Given the description of an element on the screen output the (x, y) to click on. 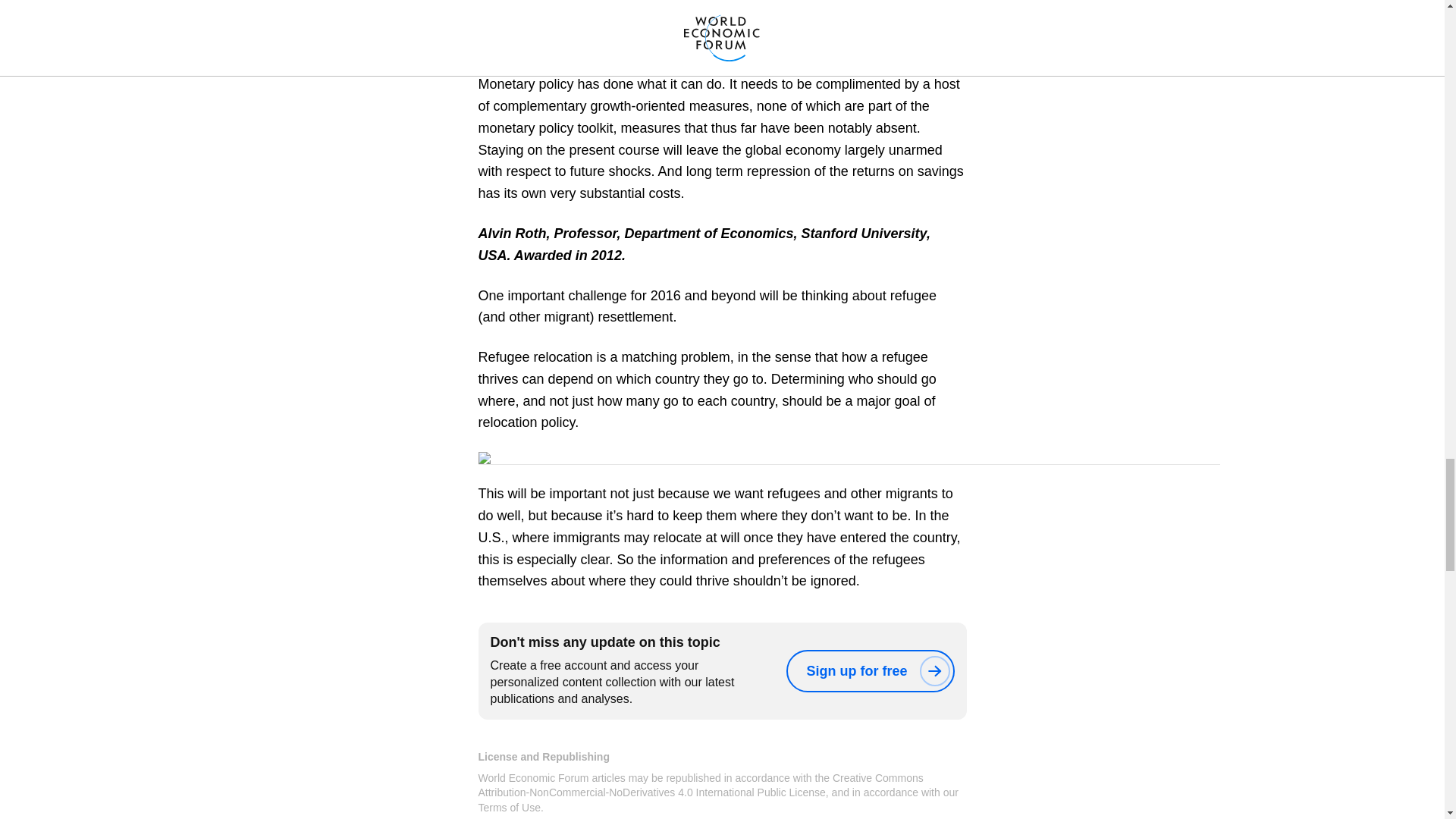
Sign up for free (869, 671)
